Given the description of an element on the screen output the (x, y) to click on. 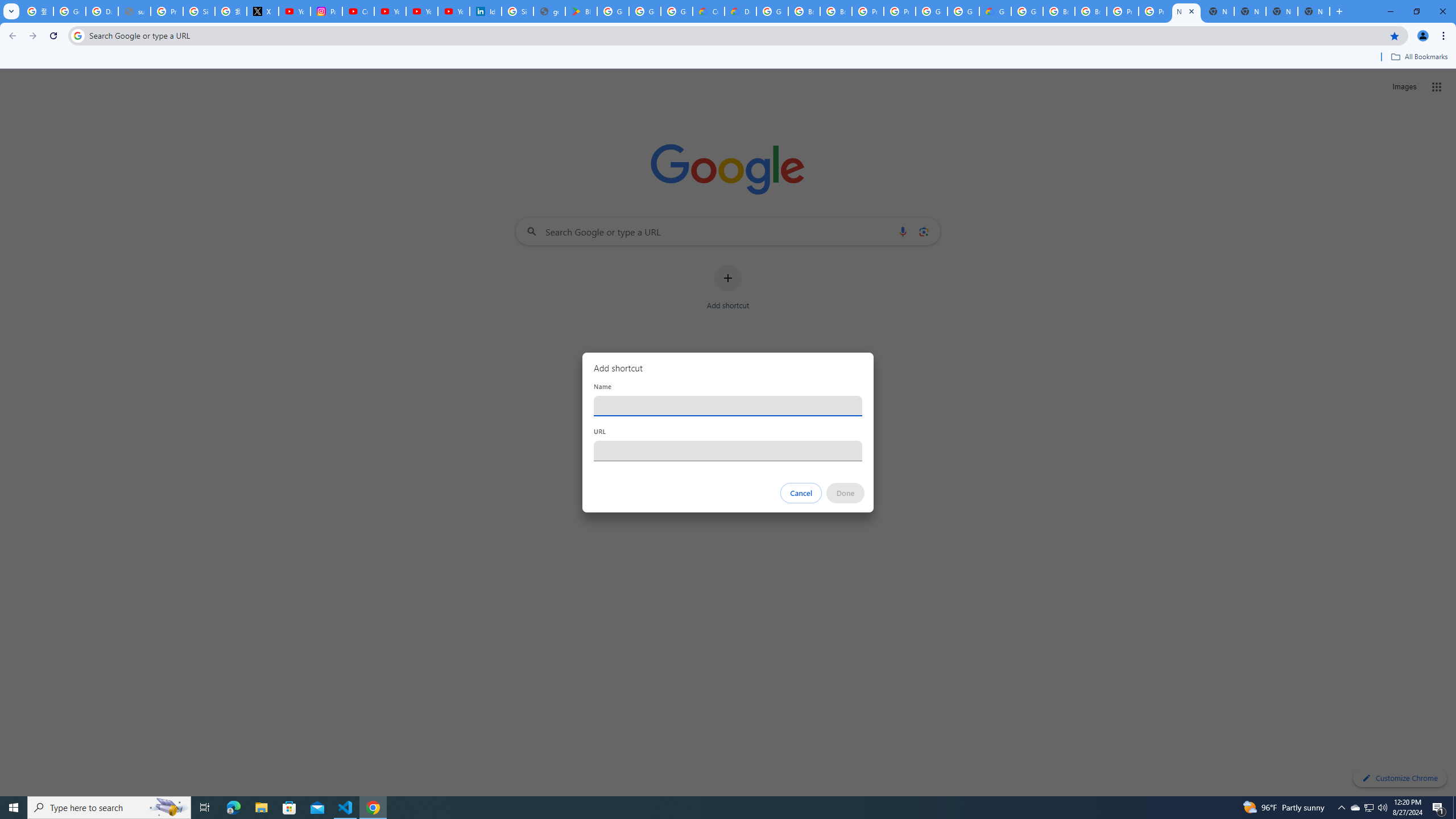
Browse Chrome as a guest - Computer - Google Chrome Help (804, 11)
YouTube Content Monetization Policies - How YouTube Works (294, 11)
support.google.com - Network error (134, 11)
Privacy Help Center - Policies Help (166, 11)
Done (845, 493)
Google Cloud Platform (963, 11)
Bluey: Let's Play! - Apps on Google Play (581, 11)
